Given the description of an element on the screen output the (x, y) to click on. 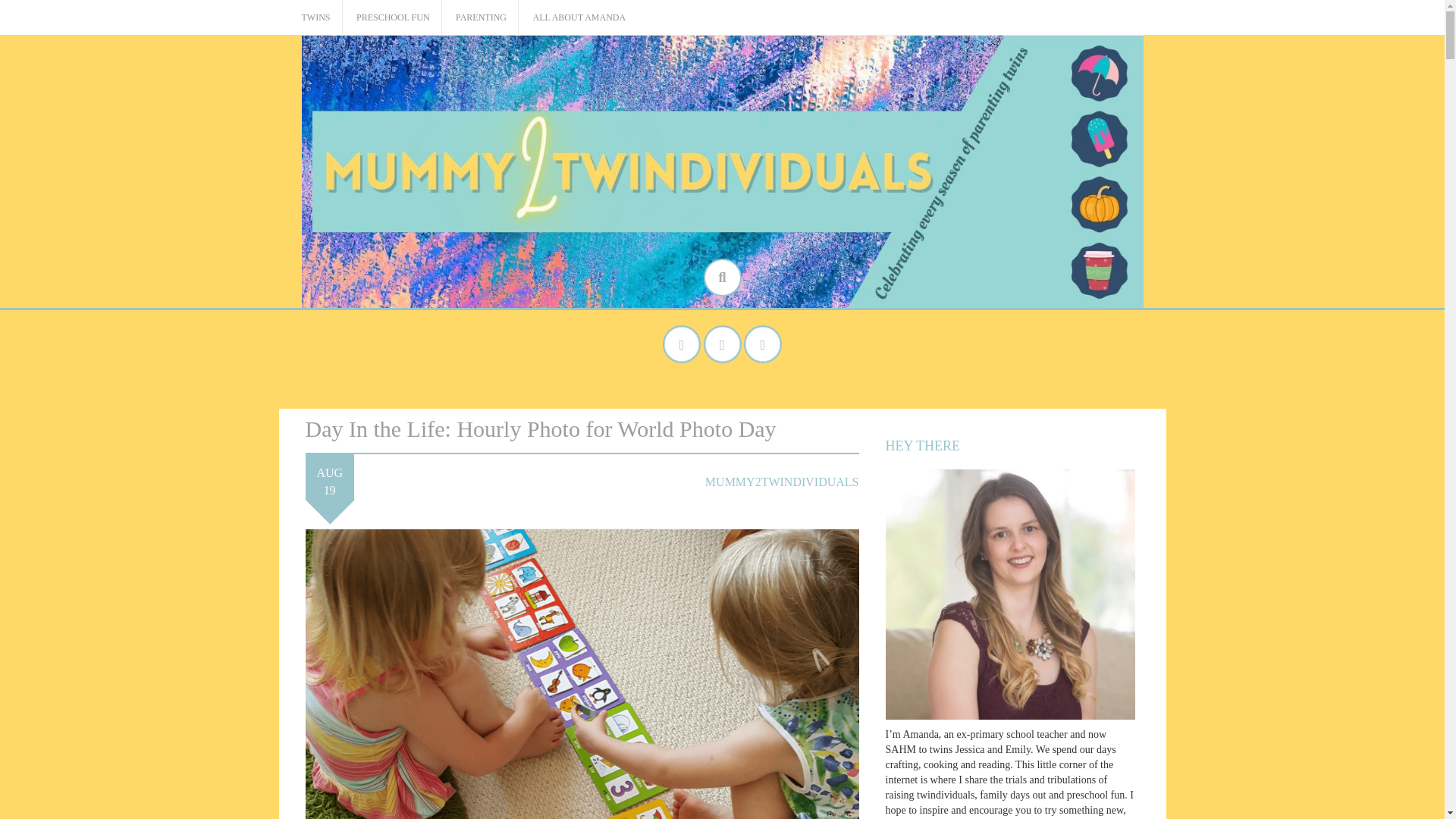
ALL ABOUT AMANDA (579, 17)
MUMMY2TWINDIVIDUALS (781, 481)
PARENTING (480, 17)
PRESCHOOL FUN (392, 17)
TWINS (315, 17)
